Given the description of an element on the screen output the (x, y) to click on. 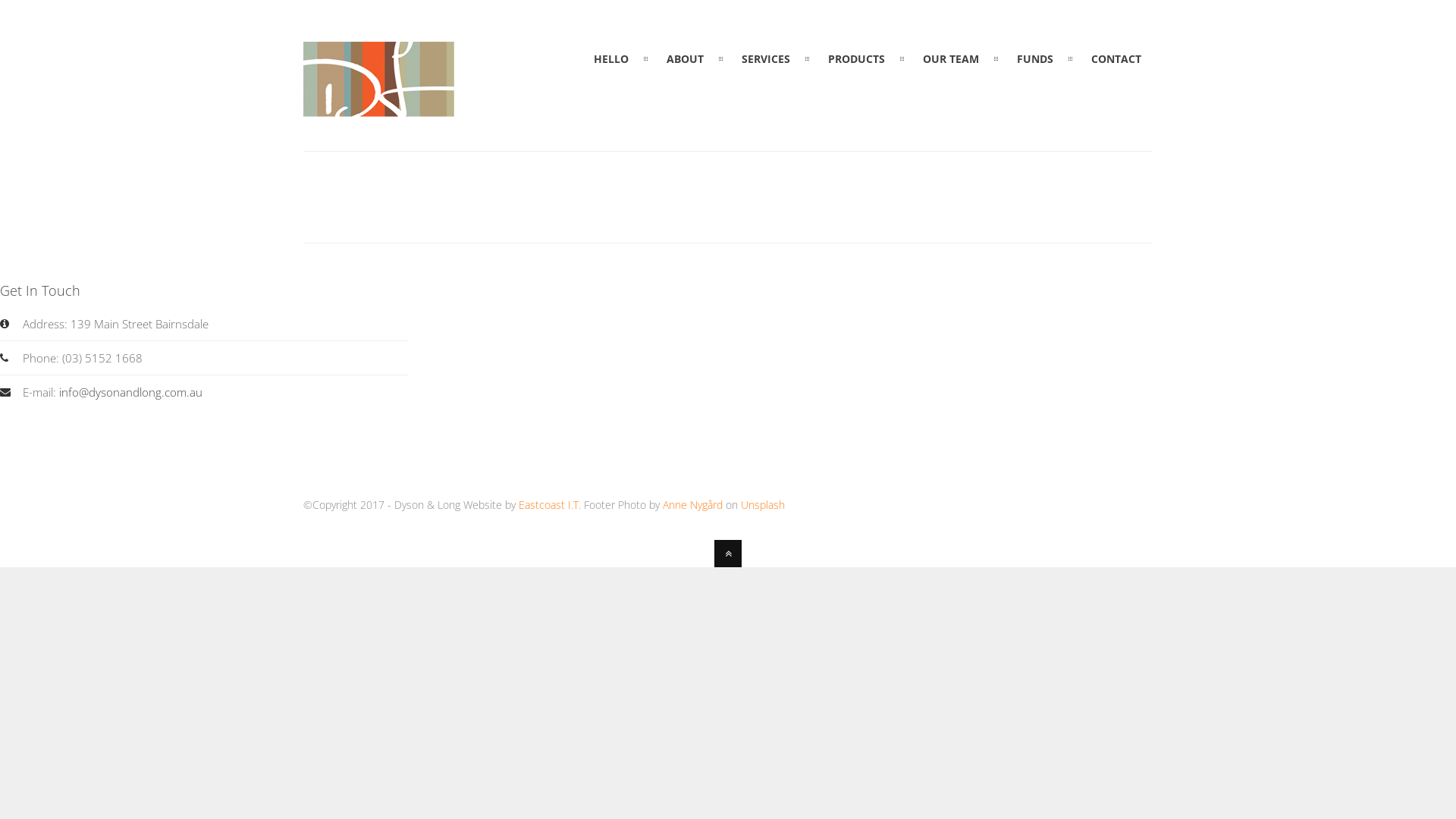
CONTACT Element type: text (1115, 58)
Unsplash Element type: text (762, 504)
OUR TEAM Element type: text (950, 58)
SERVICES Element type: text (765, 58)
FUNDS Element type: text (1034, 58)
HELLO Element type: text (611, 58)
ABOUT Element type: text (685, 58)
Dyson & Long Element type: hover (378, 107)
Eastcoast I.T. Element type: text (549, 504)
PRODUCTS Element type: text (856, 58)
info@dysonandlong.com.au Element type: text (130, 391)
